Given the description of an element on the screen output the (x, y) to click on. 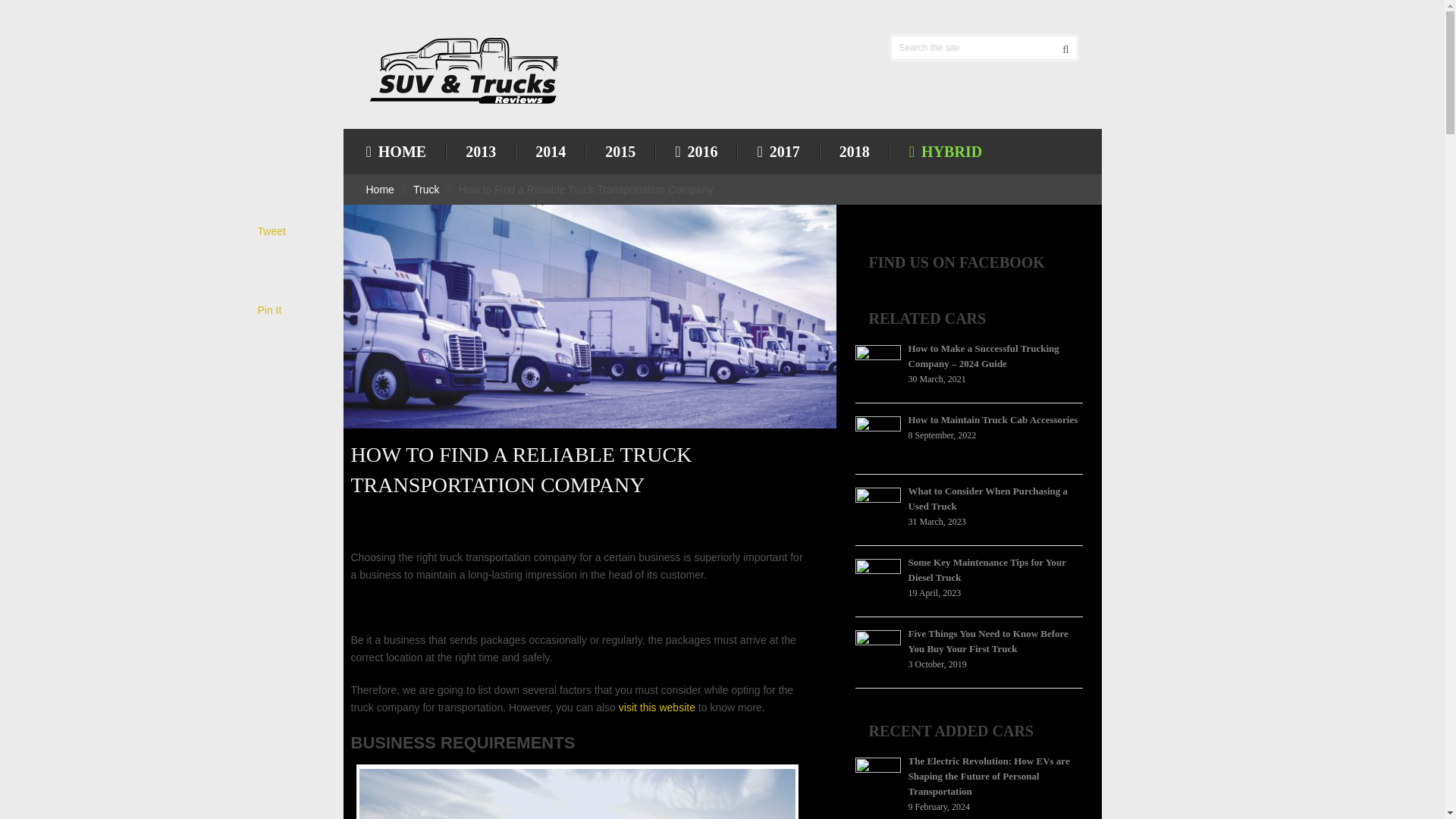
Home (379, 189)
HOME (405, 151)
2018 (854, 151)
What to Consider When Purchasing a Used Truck (988, 498)
Tweet (271, 231)
2013 (480, 151)
visit this website (656, 707)
2016 (695, 151)
2015 (620, 151)
2017 (777, 151)
2014 (550, 151)
How to Maintain Truck Cab Accessories (993, 419)
Pin It (269, 309)
HYBRID (945, 151)
Truck (426, 189)
